Given the description of an element on the screen output the (x, y) to click on. 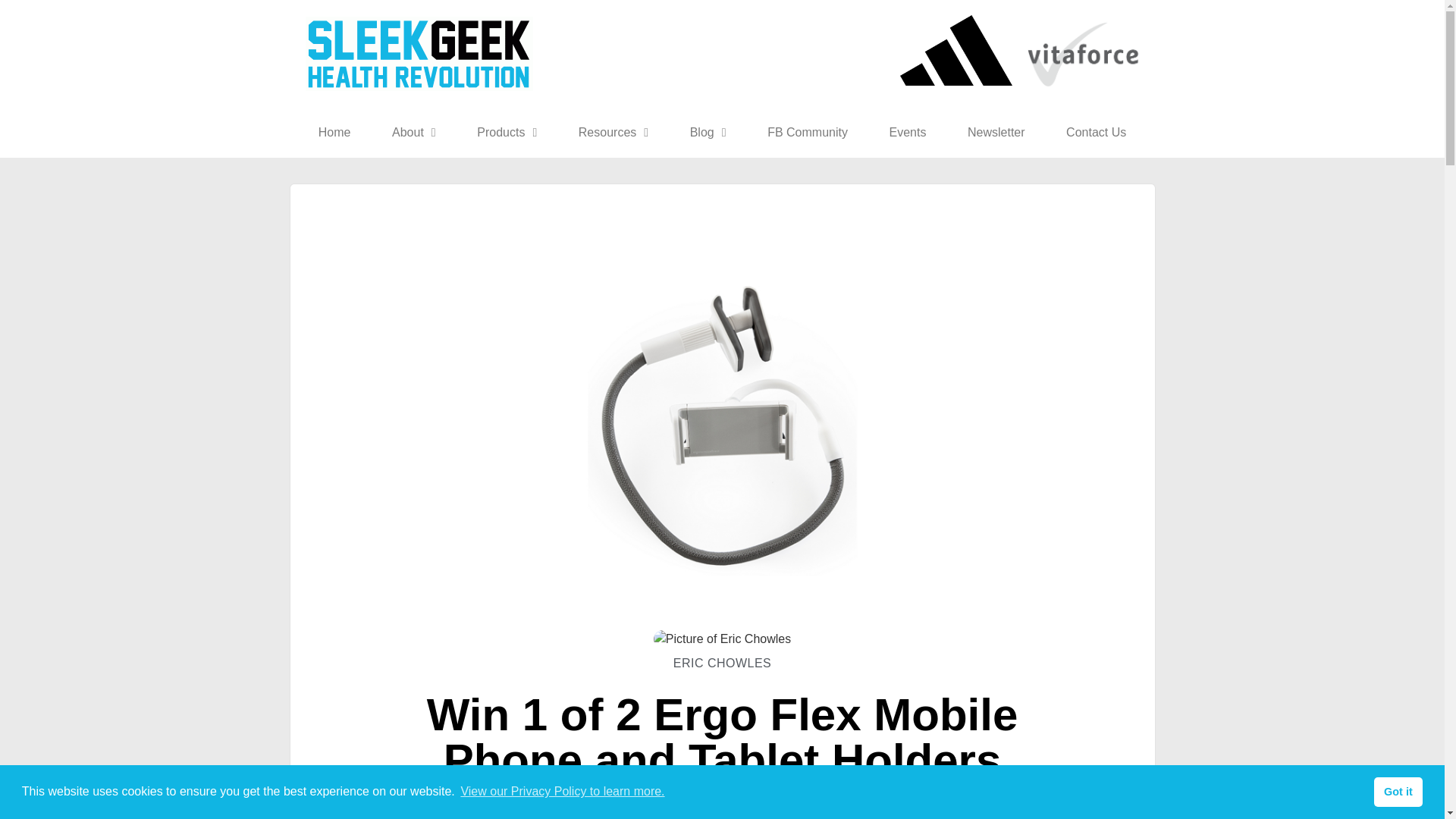
Blog (706, 132)
About (414, 132)
Home (334, 132)
Resources (613, 132)
Products (507, 132)
Sleekgeek-Health-Revolution-Logo.gif (418, 53)
